Given the description of an element on the screen output the (x, y) to click on. 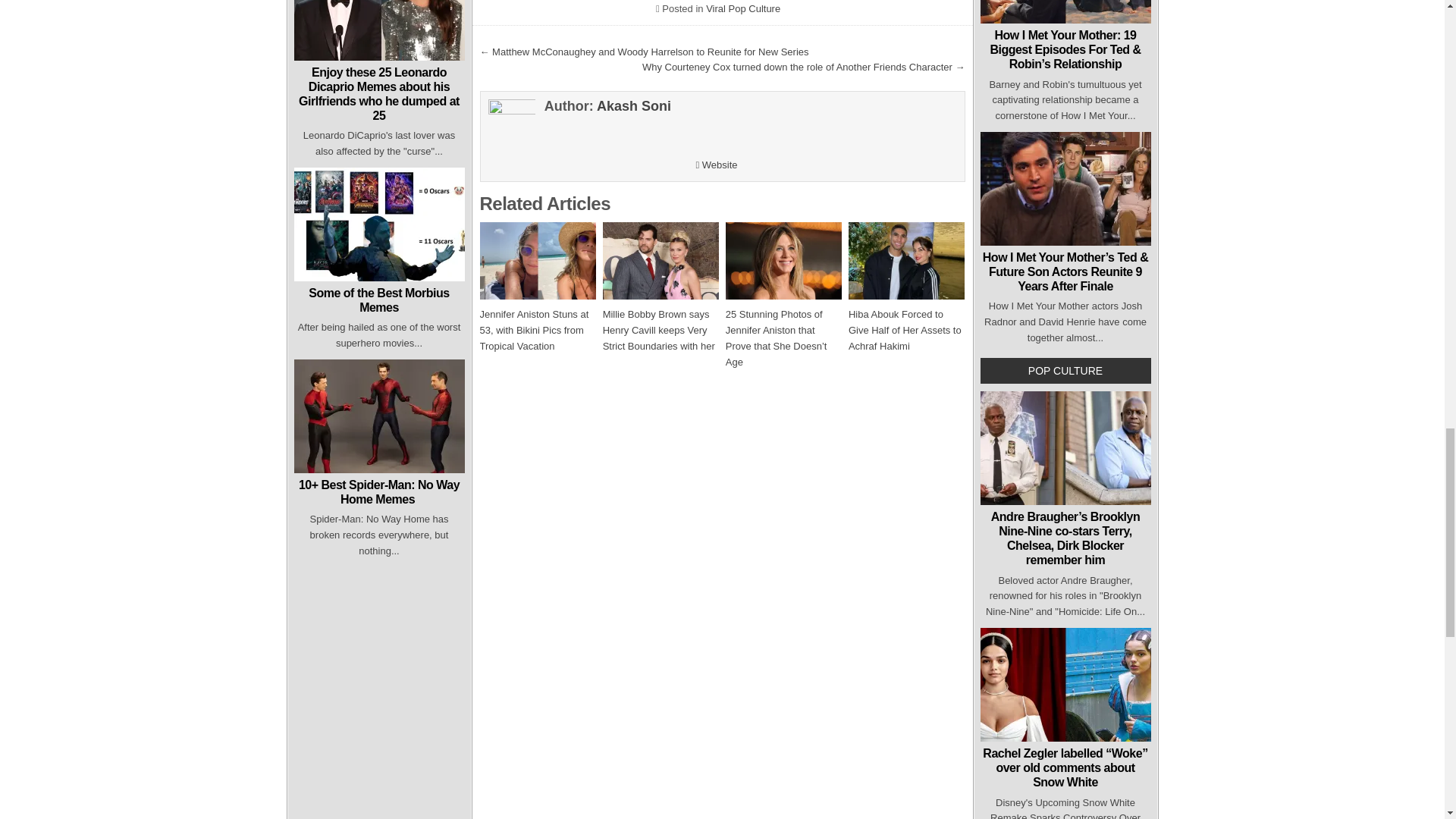
Viral Pop Culture (743, 8)
Website (715, 164)
Website (715, 164)
Akash Soni (633, 105)
